Given the description of an element on the screen output the (x, y) to click on. 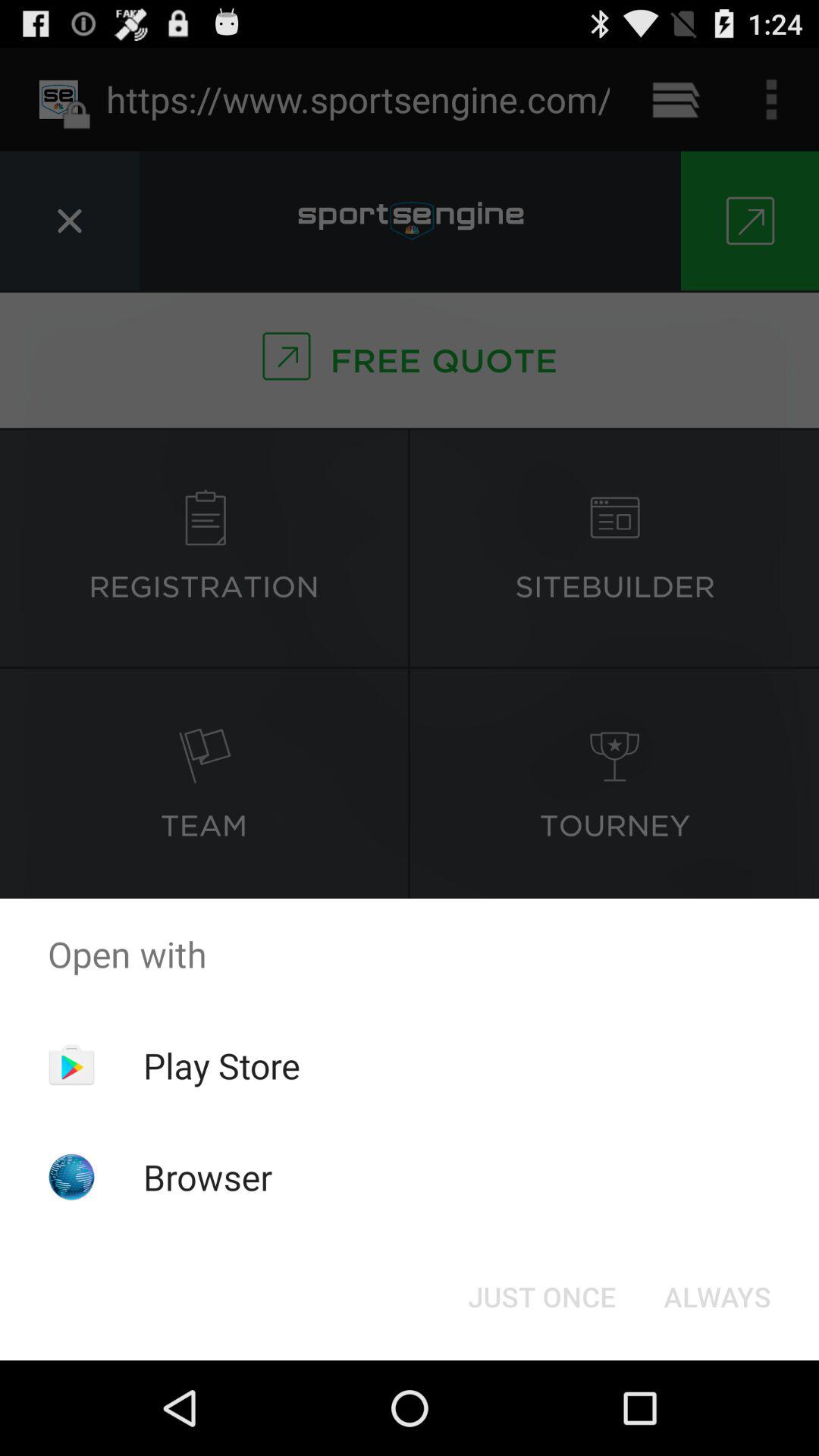
turn on the just once icon (541, 1296)
